Given the description of an element on the screen output the (x, y) to click on. 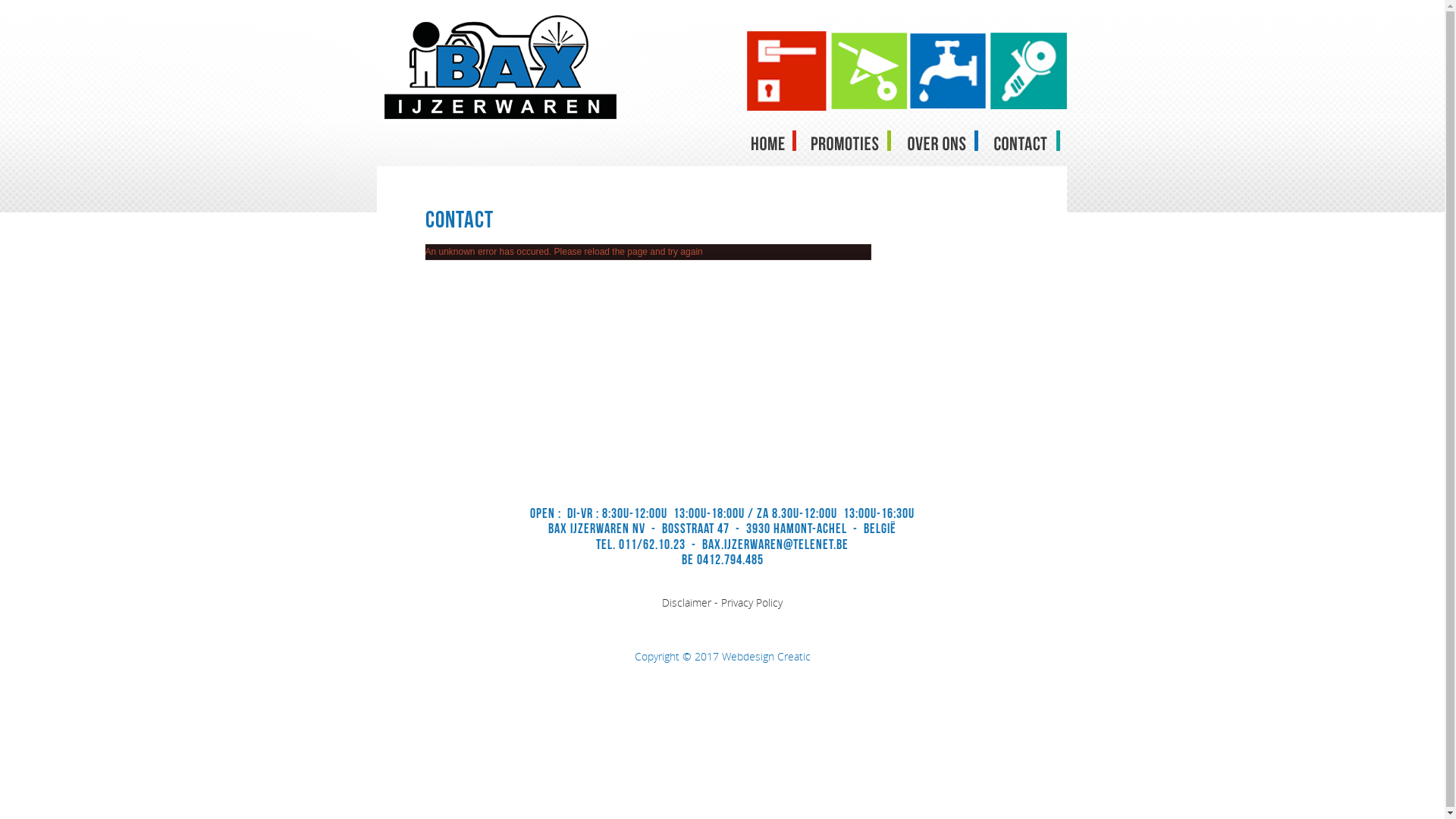
Kookshop en huishoud Element type: hover (867, 70)
Privacy Policy Element type: text (751, 602)
Over ons Element type: hover (944, 140)
Promoties Element type: hover (851, 140)
Webdesign Creatic Element type: text (765, 656)
Disclaimer Element type: text (686, 602)
Deur- en meubelbeslag Element type: hover (787, 70)
Machines en gereedschap Element type: hover (1027, 70)
Ijzerwaren en doe-het-zelf Element type: hover (947, 70)
Contact Element type: hover (1024, 140)
Home Element type: hover (773, 140)
